Given the description of an element on the screen output the (x, y) to click on. 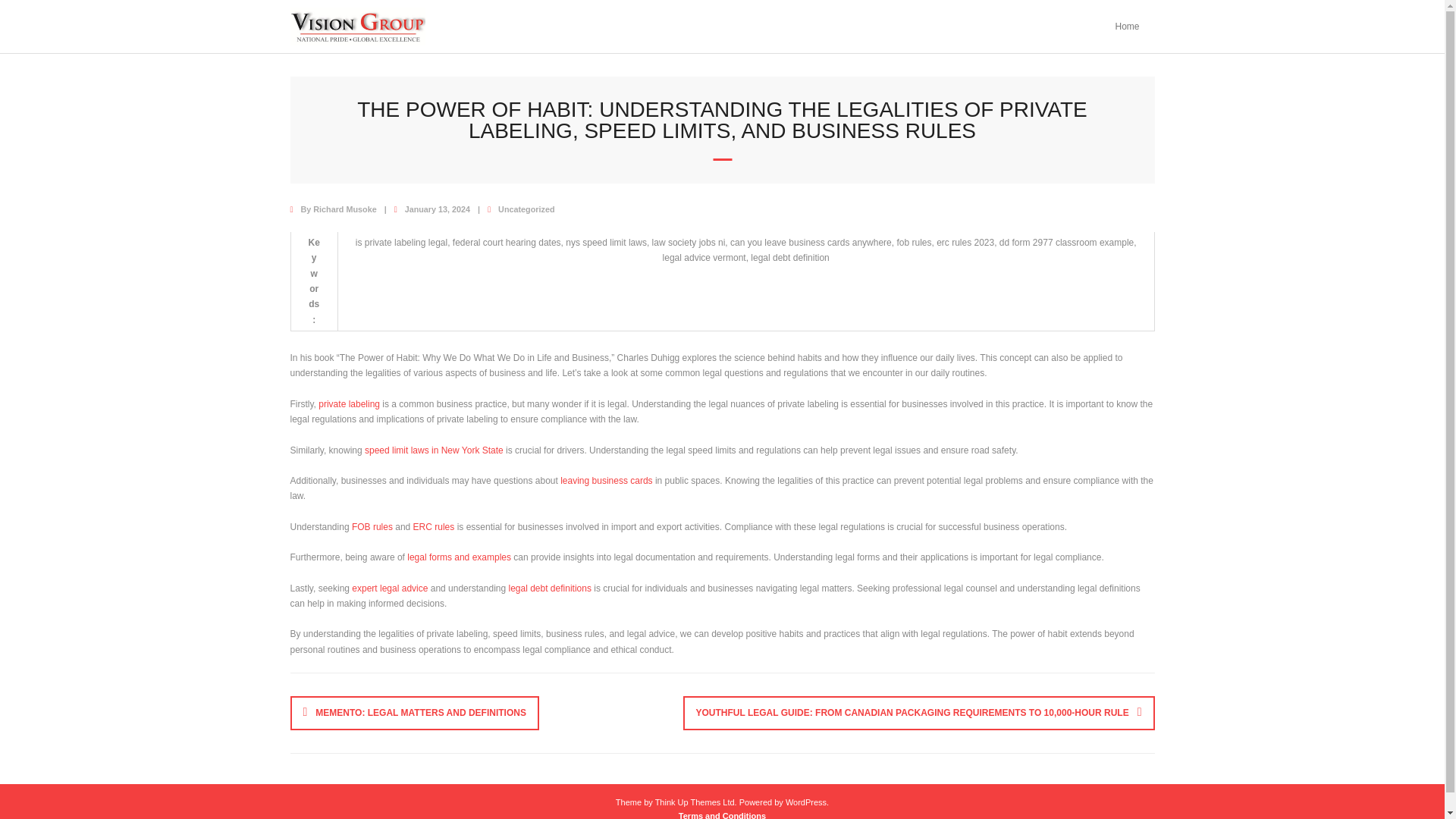
FOB rules (372, 526)
private labeling (349, 403)
Terms and Conditions (721, 815)
leaving business cards (606, 480)
WordPress (806, 801)
ERC rules (433, 526)
legal forms and examples (459, 557)
Richard Musoke (344, 208)
January 13, 2024 (437, 208)
expert legal advice (390, 588)
Uncategorized (525, 208)
View all posts by Richard Musoke (344, 208)
legal debt definitions (549, 588)
